Given the description of an element on the screen output the (x, y) to click on. 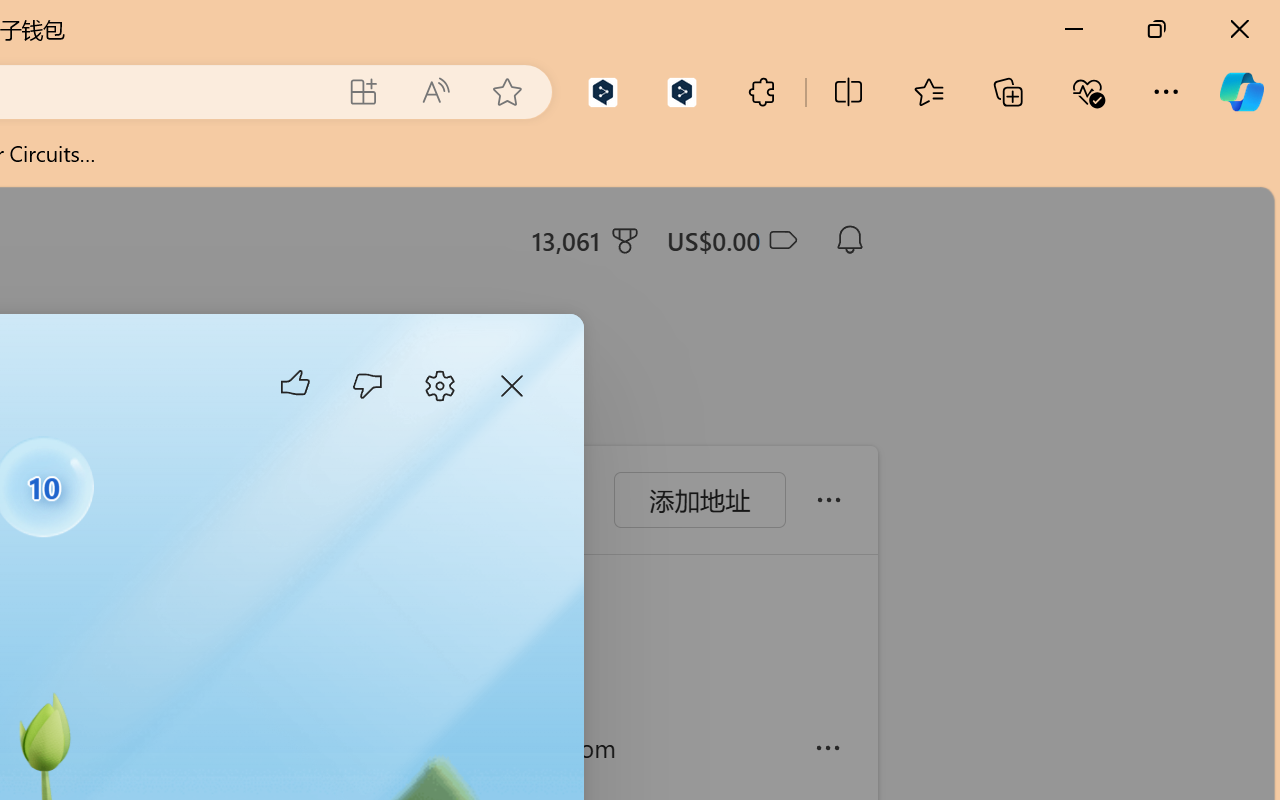
+86 159 0032 4640 (256, 747)
Class: ___1lmltc5 f1agt3bx f12qytpq (781, 241)
Copilot (Ctrl+Shift+.) (1241, 91)
